Given the description of an element on the screen output the (x, y) to click on. 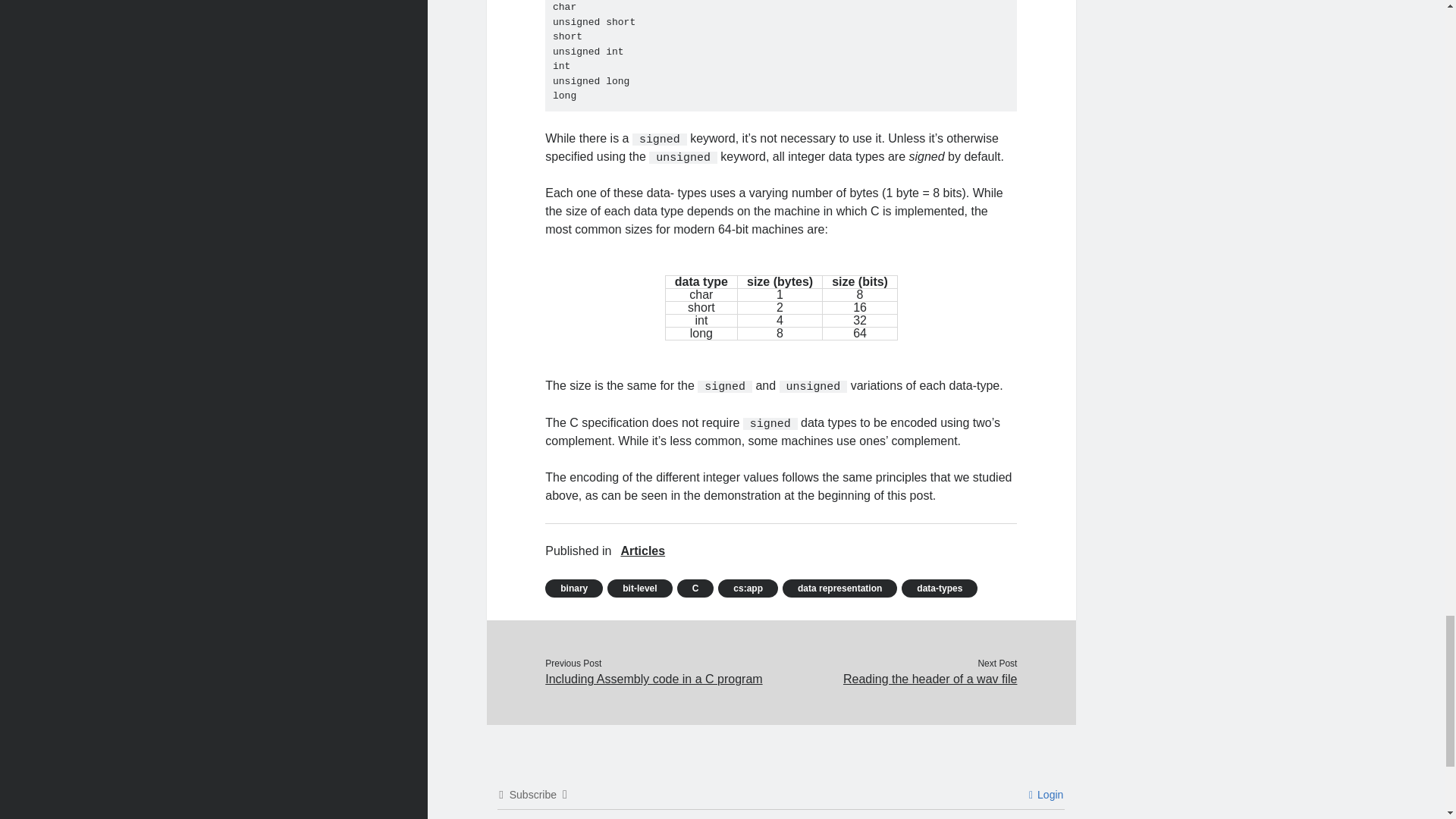
View all posts tagged data-types (938, 588)
View all posts in Articles (642, 551)
View all posts tagged data representation (839, 588)
View all posts tagged binary (573, 588)
View all posts tagged bit-level (639, 588)
View all posts tagged C (695, 588)
View all posts tagged cs:app (747, 588)
